Given the description of an element on the screen output the (x, y) to click on. 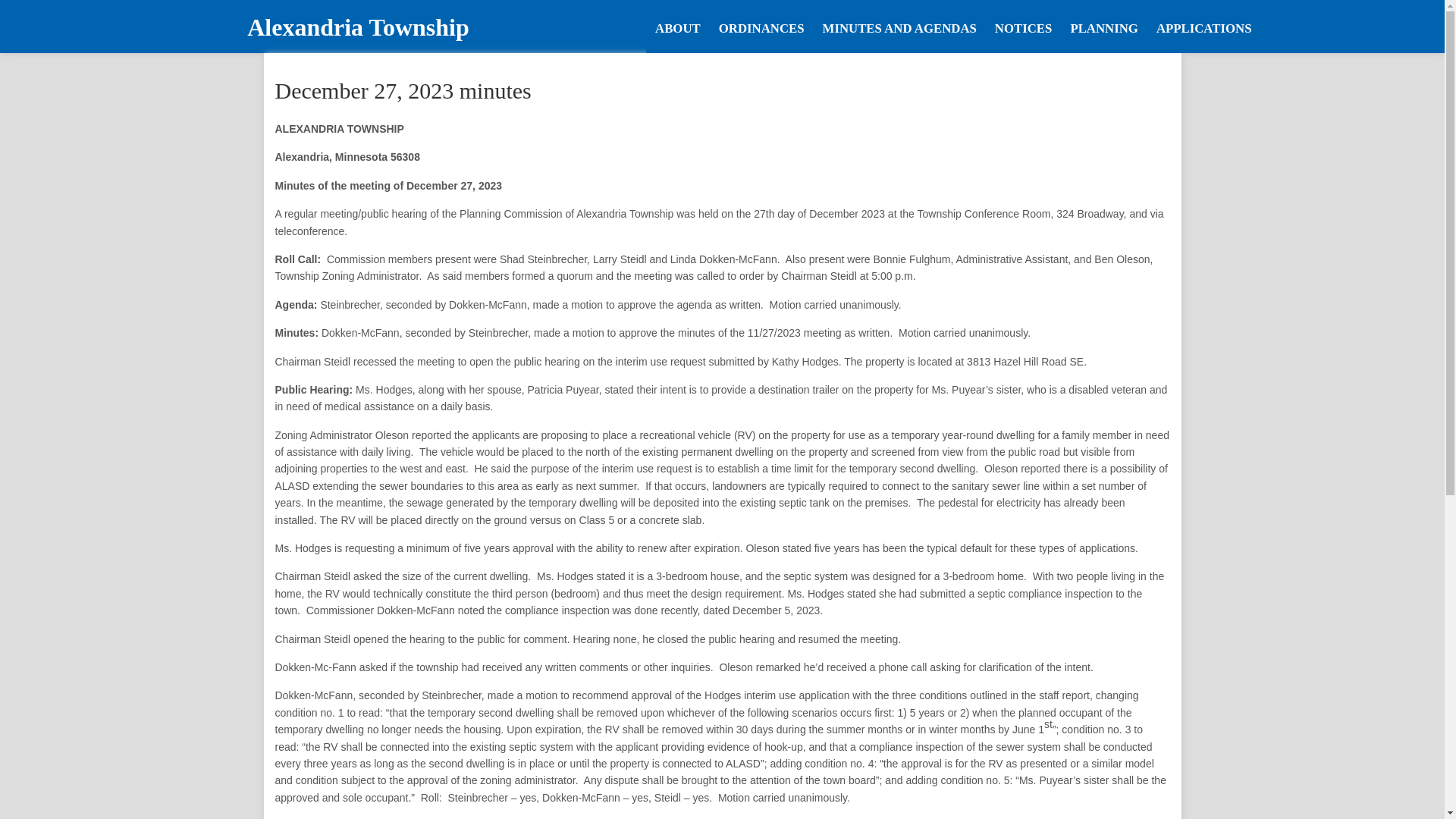
MINUTES AND AGENDAS (899, 26)
ABOUT (678, 26)
ORDINANCES (761, 26)
NOTICES (1023, 26)
PLANNING (1104, 26)
APPLICATIONS (1203, 26)
Alexandria Township (357, 27)
